Given the description of an element on the screen output the (x, y) to click on. 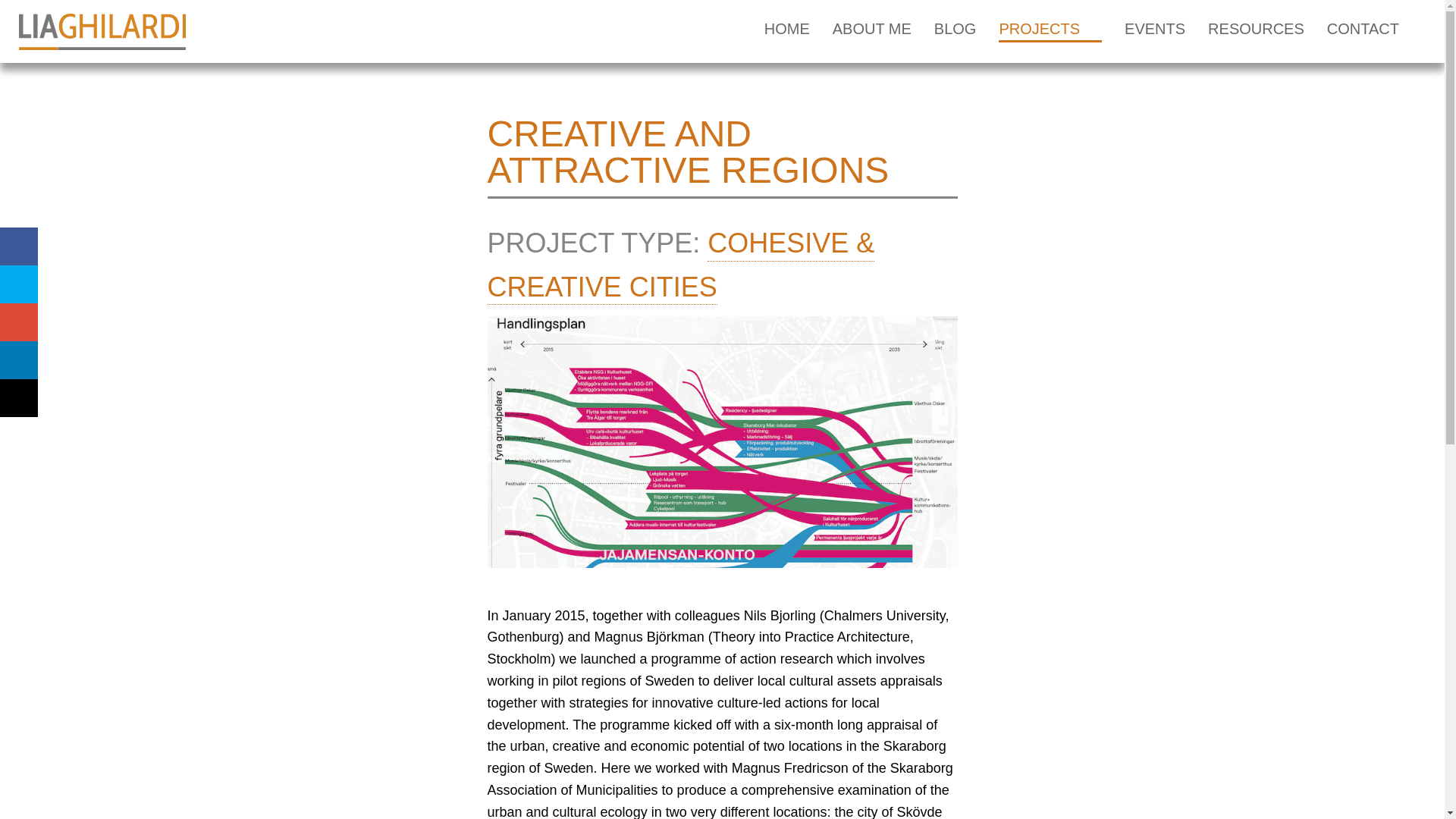
PROJECTS (1050, 31)
Lia Ghilardi (102, 31)
HOME (786, 31)
CONTACT (1362, 31)
BLOG (955, 31)
RESOURCES (1256, 31)
EVENTS (1154, 31)
ABOUT ME (871, 31)
